Given the description of an element on the screen output the (x, y) to click on. 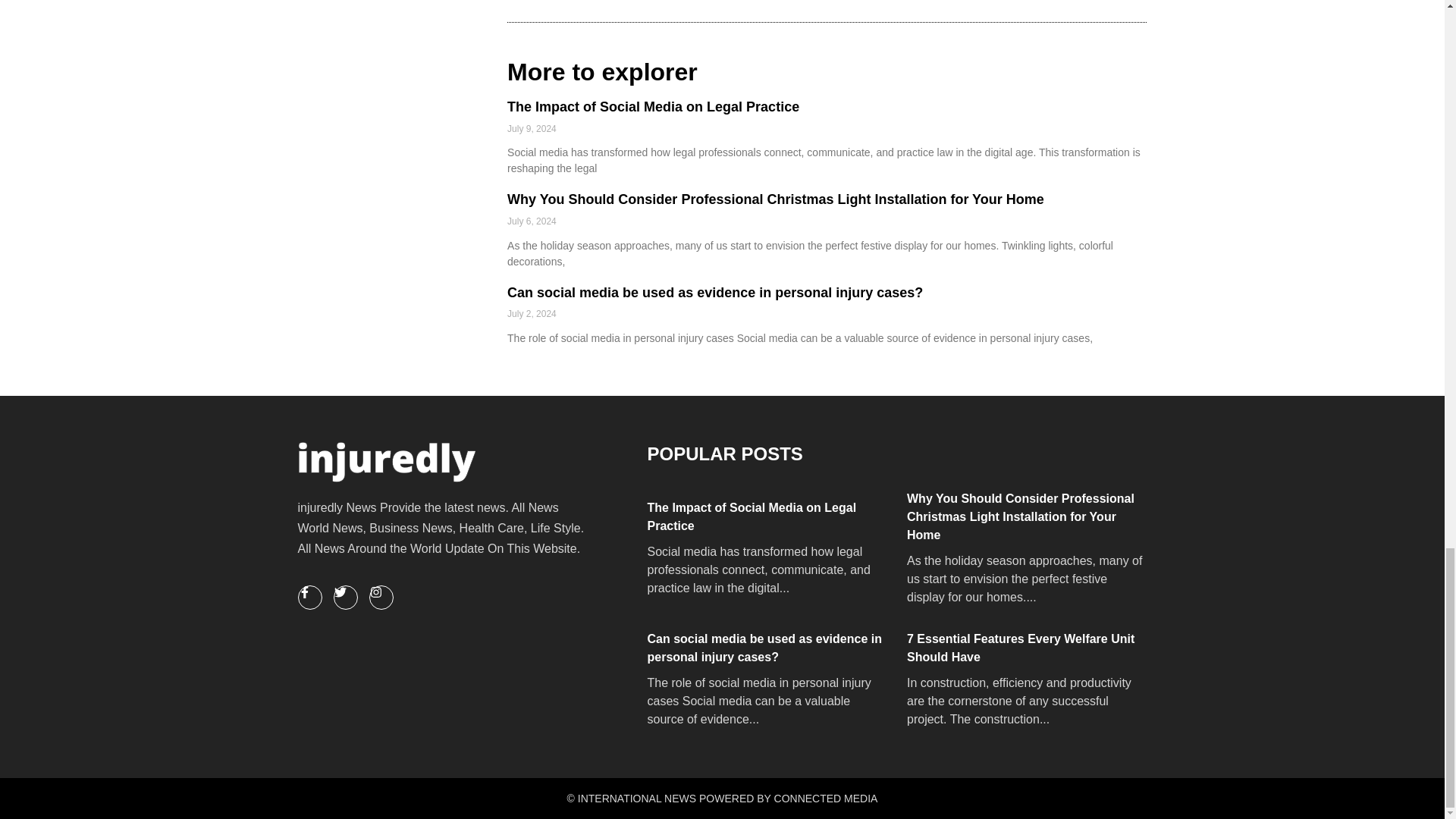
The Impact of Social Media on Legal Practice (765, 516)
7 Essential Features Every Welfare Unit Should Have (1024, 647)
